Given the description of an element on the screen output the (x, y) to click on. 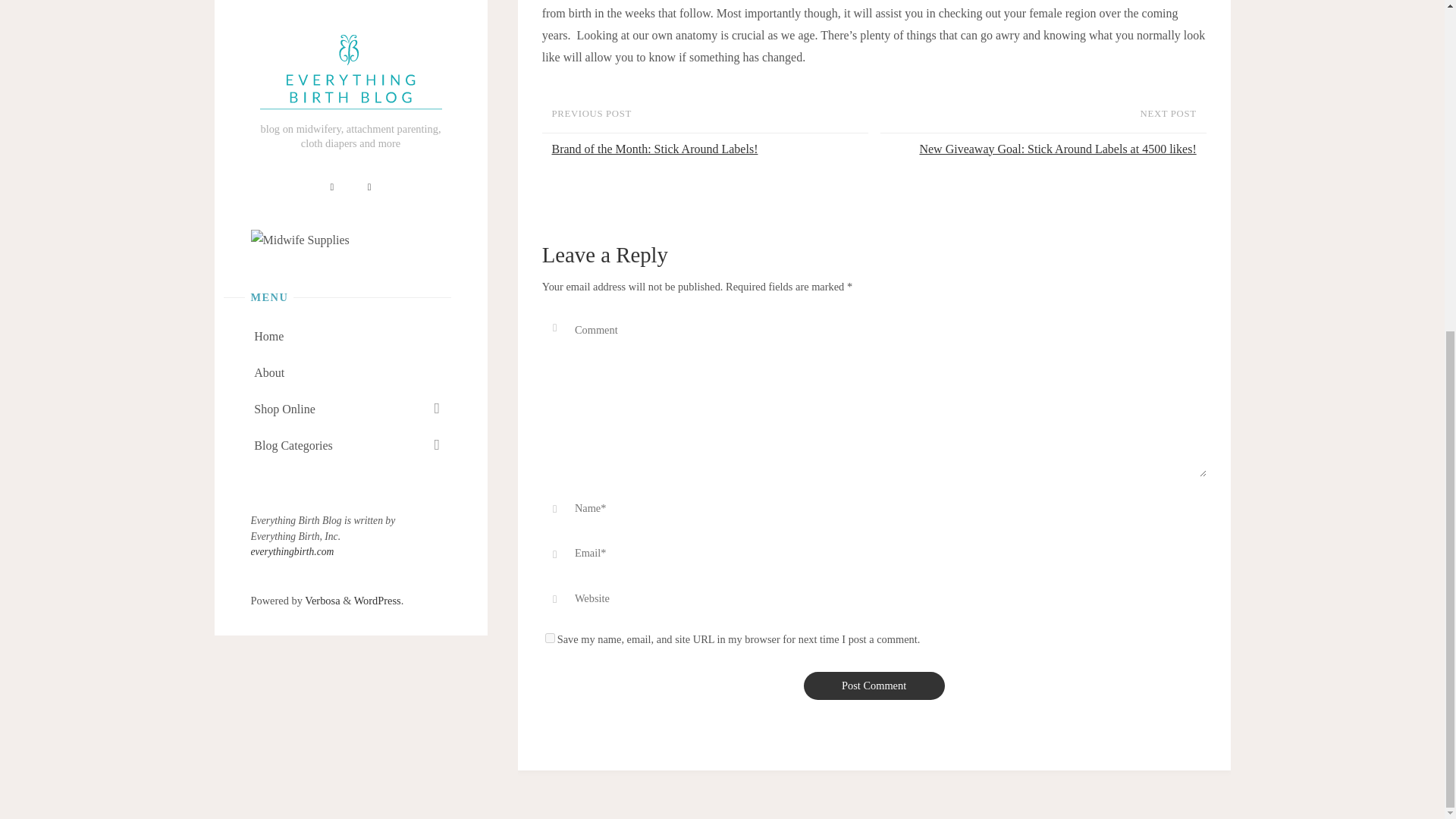
yes (549, 637)
Verbosa WordPress Theme by Cryout Creations (321, 50)
Semantic Personal Publishing Platform (377, 50)
Post Comment (873, 685)
